Given the description of an element on the screen output the (x, y) to click on. 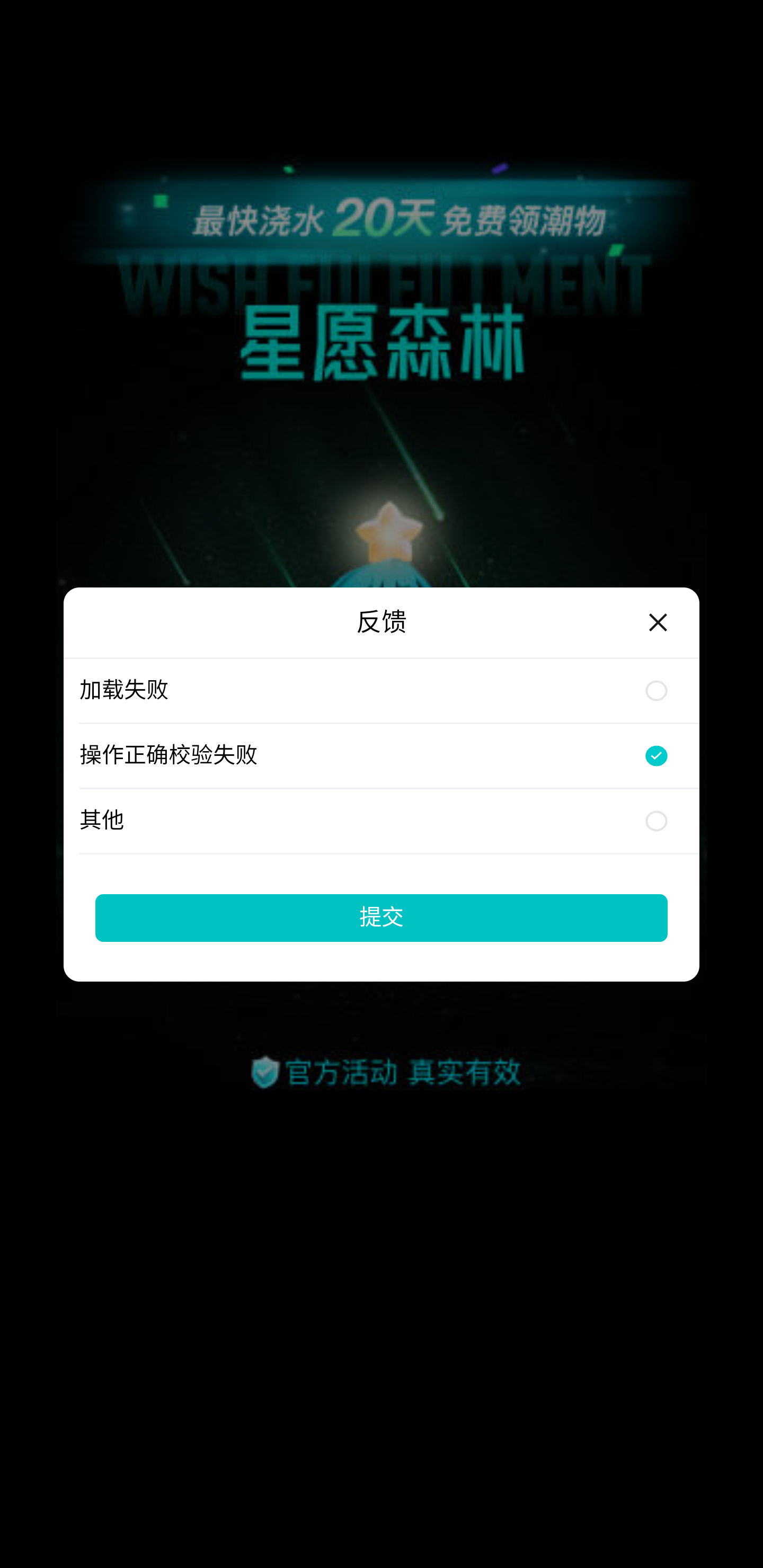
提交 (381, 917)
